Given the description of an element on the screen output the (x, y) to click on. 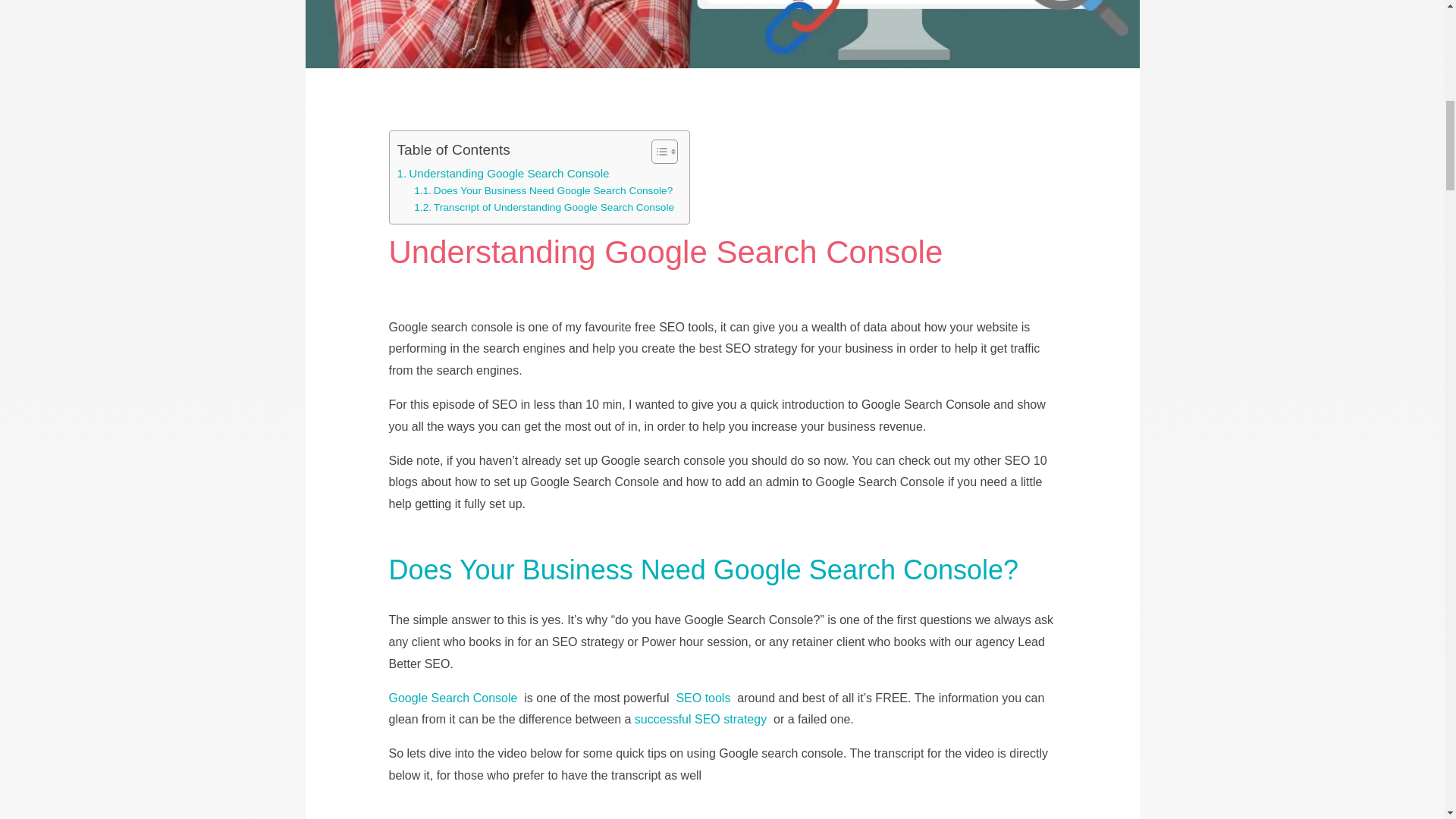
Does Your Business Need Google Search Console? (542, 190)
Understanding Google Search Console (503, 173)
Transcript of Understanding Google Search Console (543, 207)
Transcript of Understanding Google Search Console (543, 207)
SEO tools (702, 697)
successful SEO strategy (702, 718)
Does Your Business Need Google Search Console? (542, 190)
Google Search Console (452, 697)
Understanding Google Search Console (721, 33)
Understanding Google Search Console (503, 173)
